Given the description of an element on the screen output the (x, y) to click on. 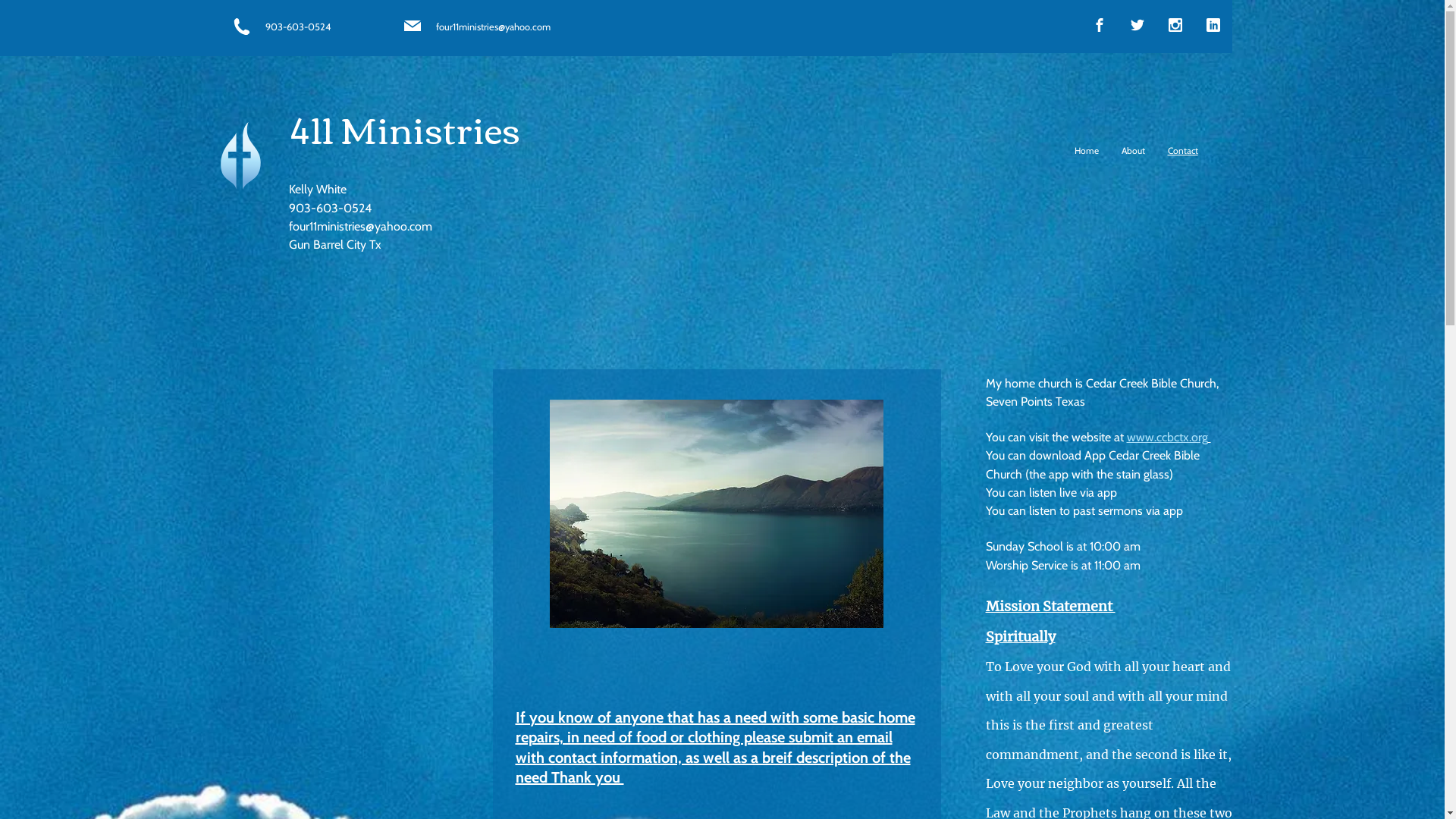
Contact Element type: text (1181, 150)
four11ministries@yahoo.com Element type: text (492, 26)
four11ministries@yahoo.com Element type: text (359, 226)
Home Element type: text (1086, 150)
About Element type: text (1133, 150)
www.ccbctx.org Element type: text (1167, 436)
Google Maps Element type: hover (323, 415)
